Given the description of an element on the screen output the (x, y) to click on. 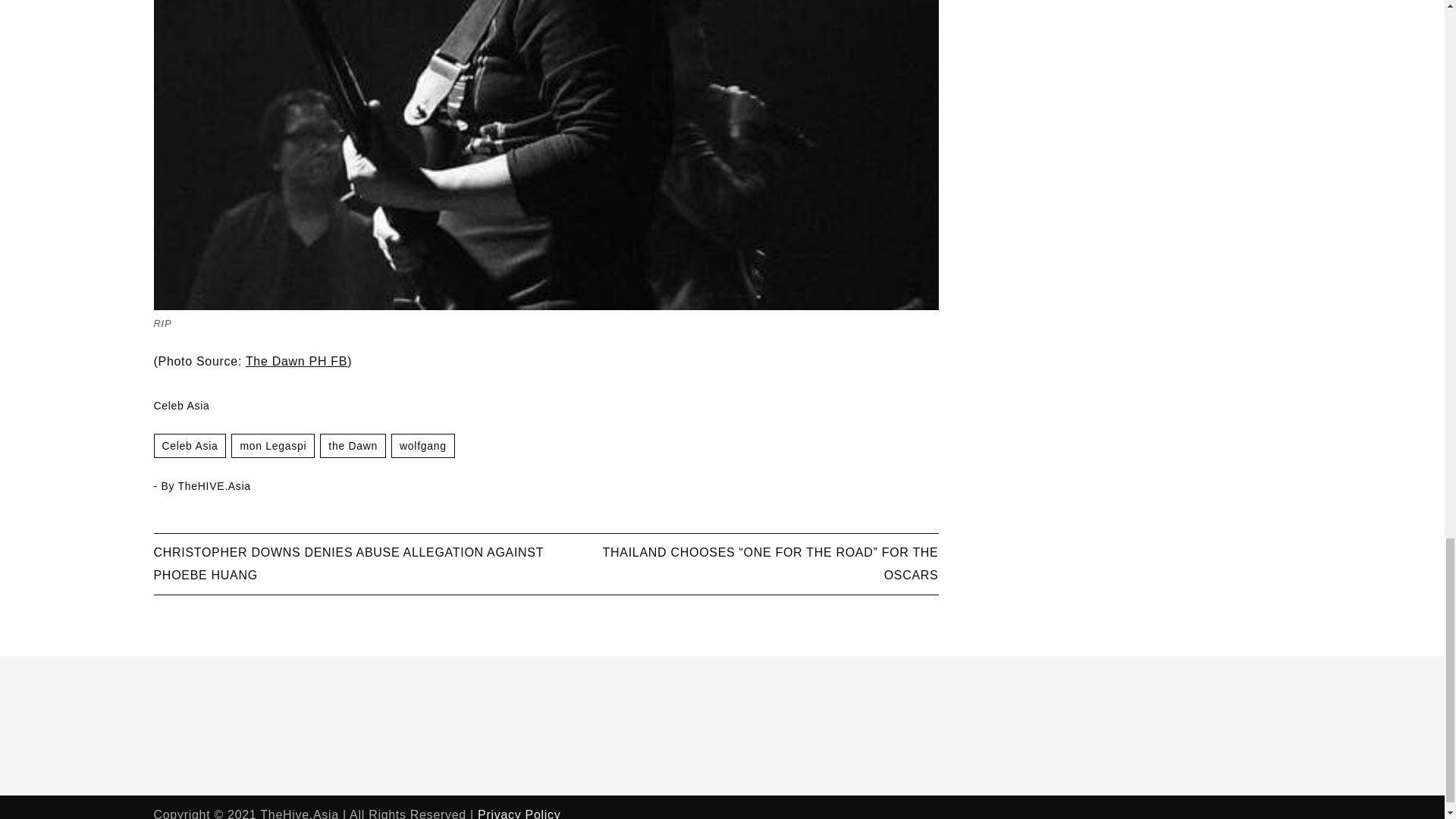
Celeb Asia (188, 445)
Wolfgang (422, 445)
Celeb Asia (180, 405)
The Dawn (352, 445)
Mon Legaspi (272, 445)
TheHIVE.Asia (213, 485)
The Dawn PH FB (296, 360)
